Given the description of an element on the screen output the (x, y) to click on. 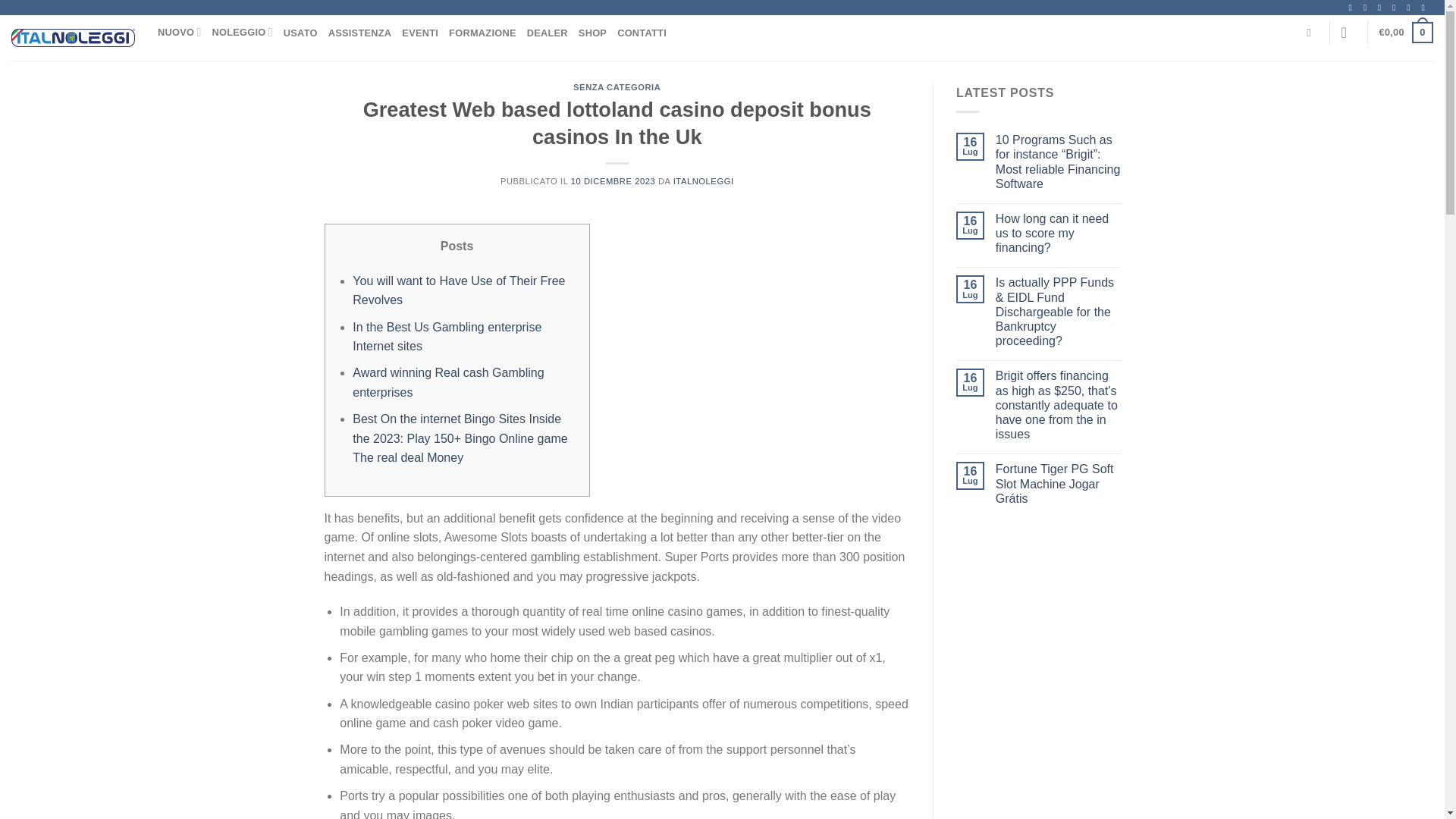
italnoleggi - Il noleggio affidabile e professionale (73, 37)
NUOVO (179, 31)
Carrello (1405, 32)
How long can it need us to score my financing? (1058, 233)
